Given the description of an element on the screen output the (x, y) to click on. 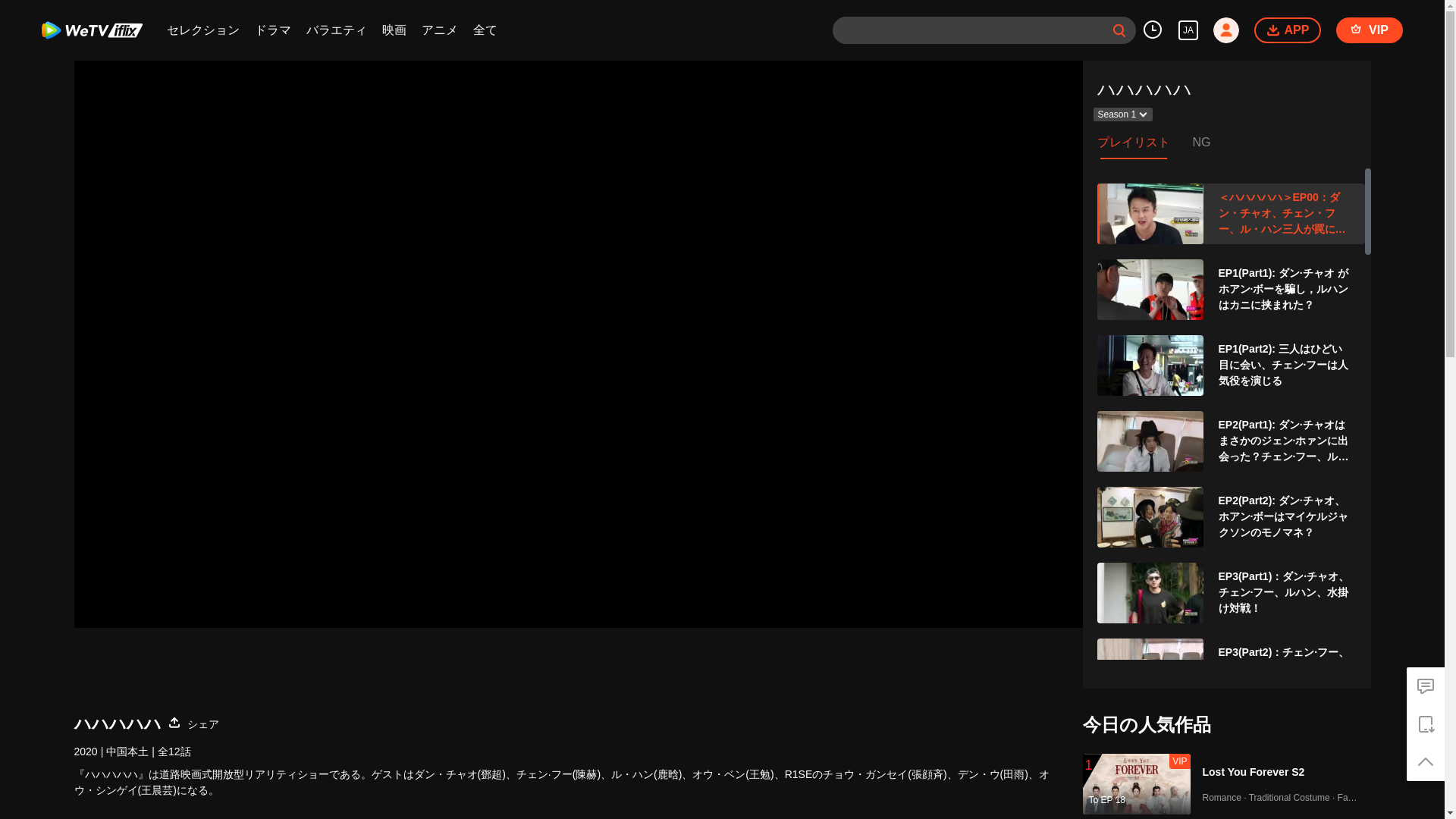
VIP (1369, 30)
